Given the description of an element on the screen output the (x, y) to click on. 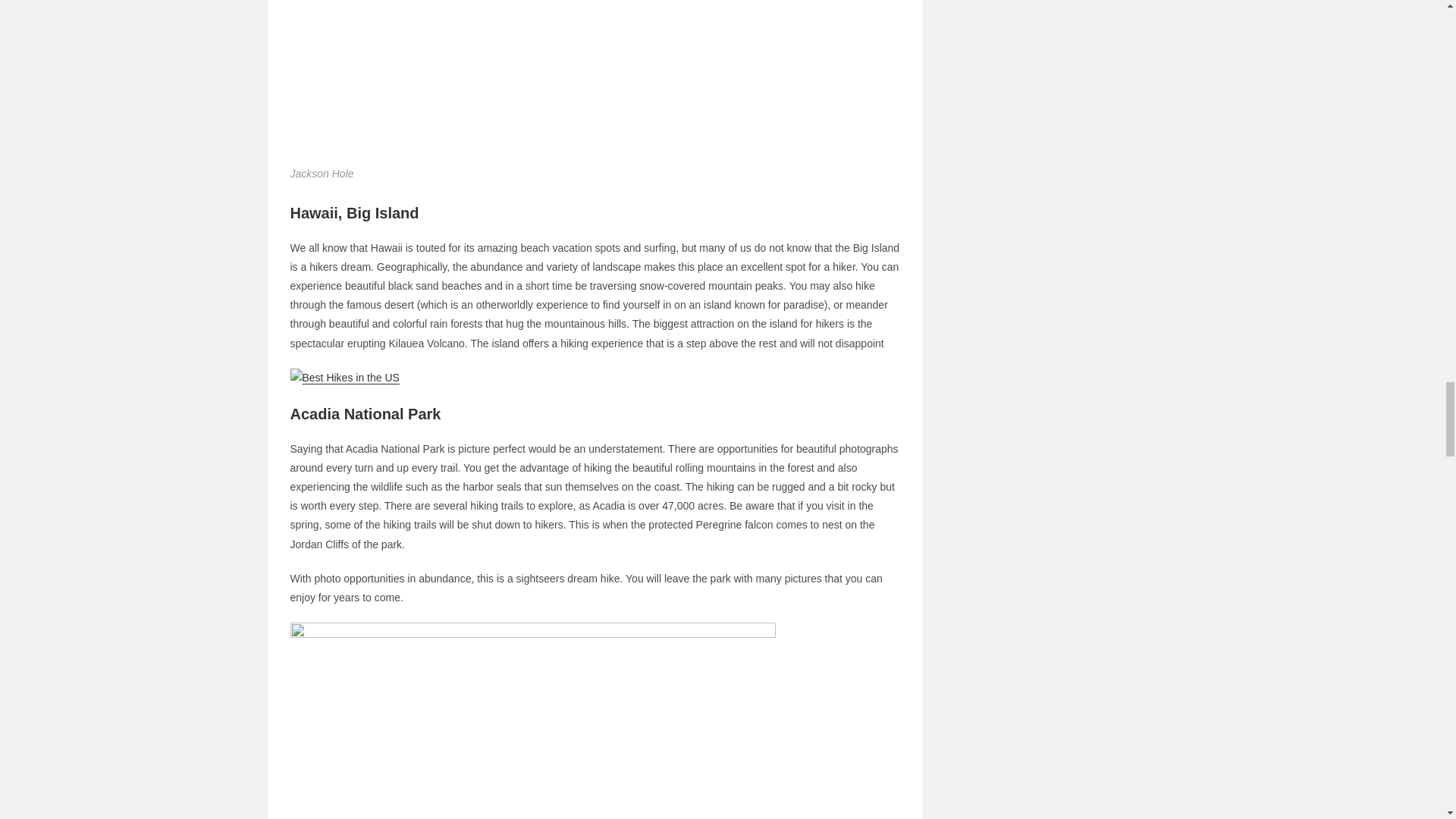
jackson Hole, October 2010 by Larry Johnson, on Flickr (531, 41)
Kilauea Iki Crater by Gabriel Millos, on Flickr (343, 377)
Acadia National Park by Jeff Gunn, on Flickr (531, 803)
